Given the description of an element on the screen output the (x, y) to click on. 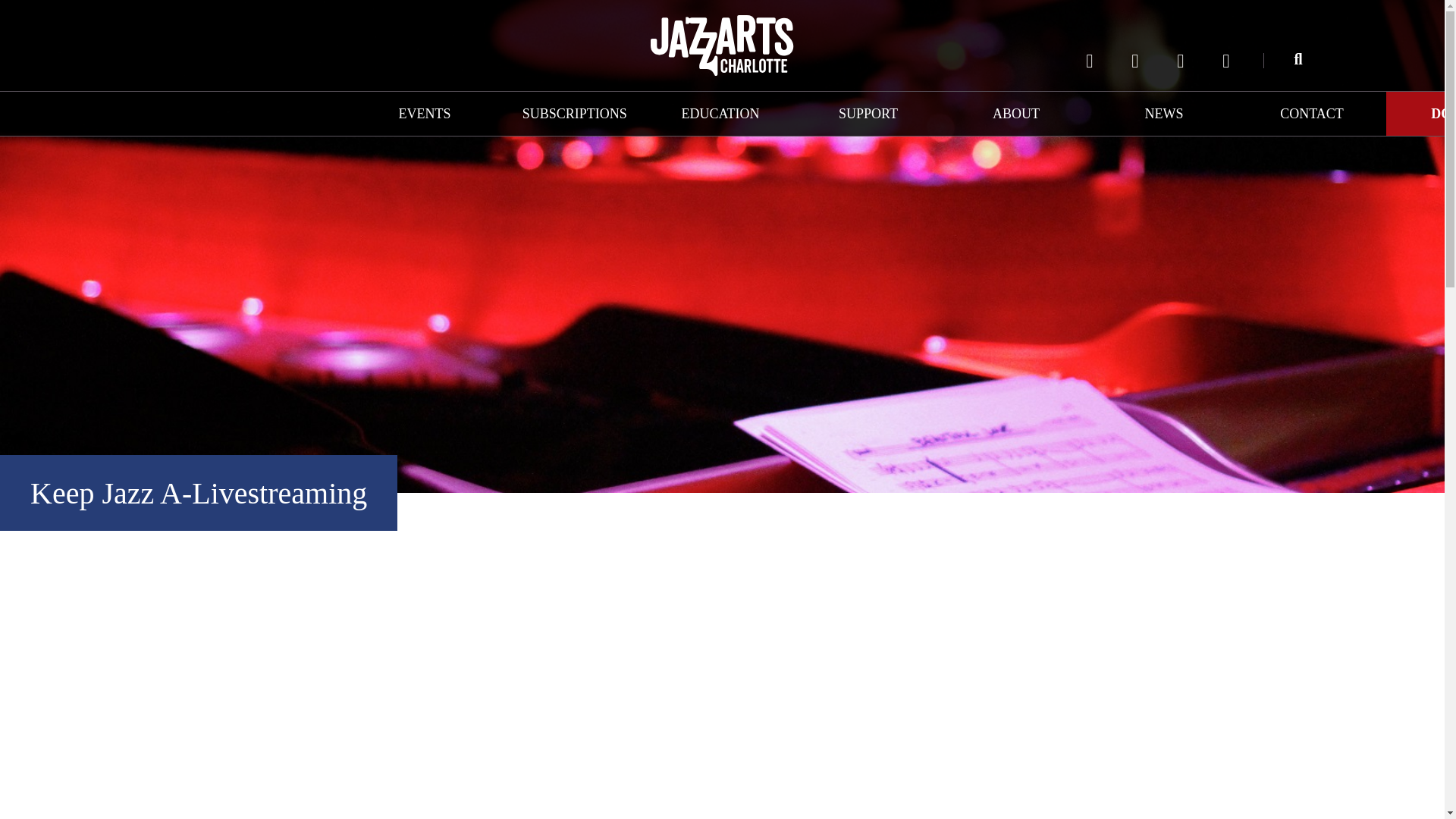
EVENTS (423, 113)
SUBSCRIPTIONS (572, 113)
EDUCATION (719, 113)
SUPPORT (868, 113)
